Given the description of an element on the screen output the (x, y) to click on. 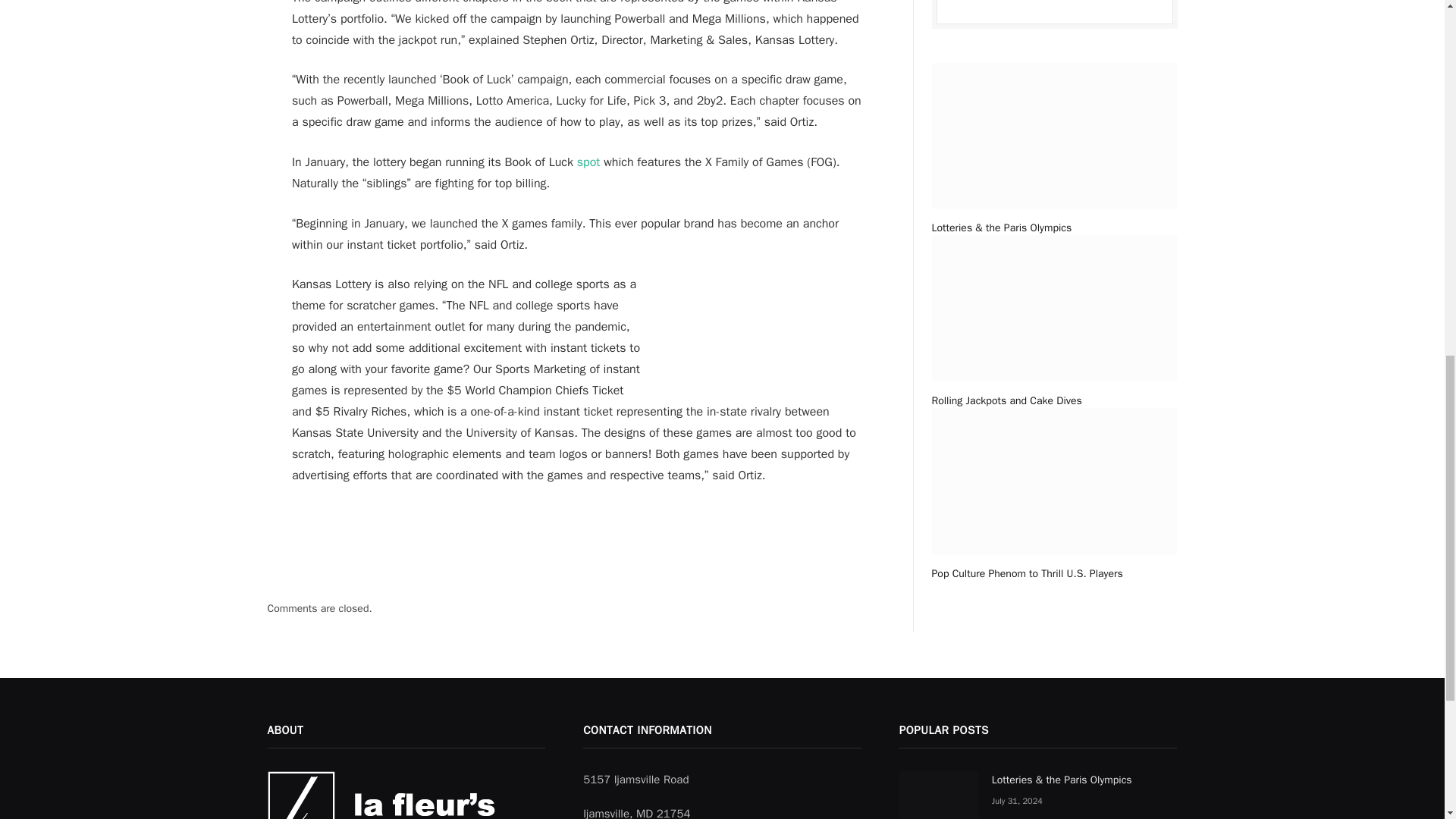
spot (587, 161)
Rolling Jackpots and Cake Dives (1053, 400)
Pop Culture Phenom to Thrill U.S. Players (1053, 573)
